Given the description of an element on the screen output the (x, y) to click on. 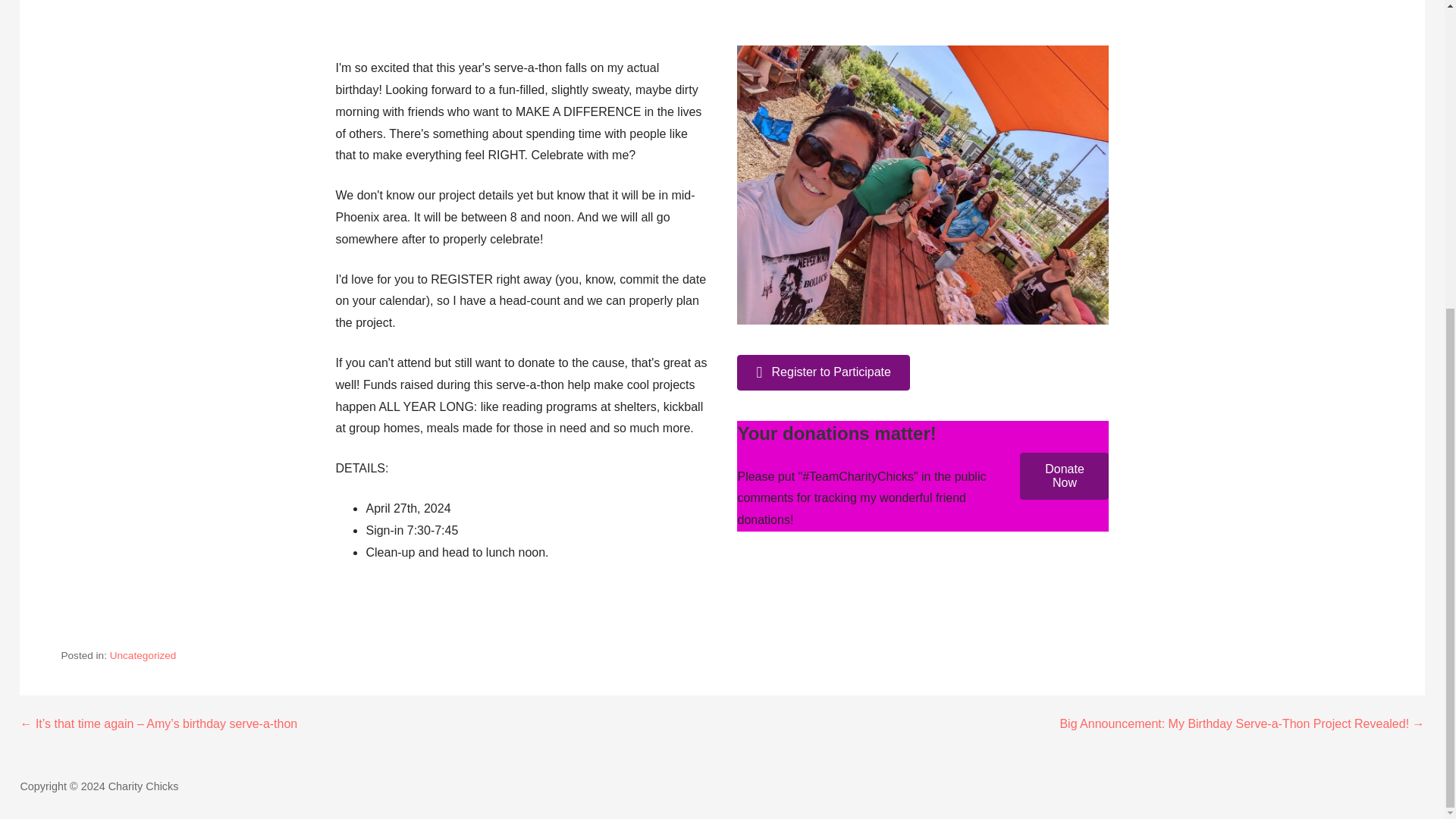
Register to Participate (822, 372)
Uncategorized (143, 655)
Donate Now (1064, 475)
